Given the description of an element on the screen output the (x, y) to click on. 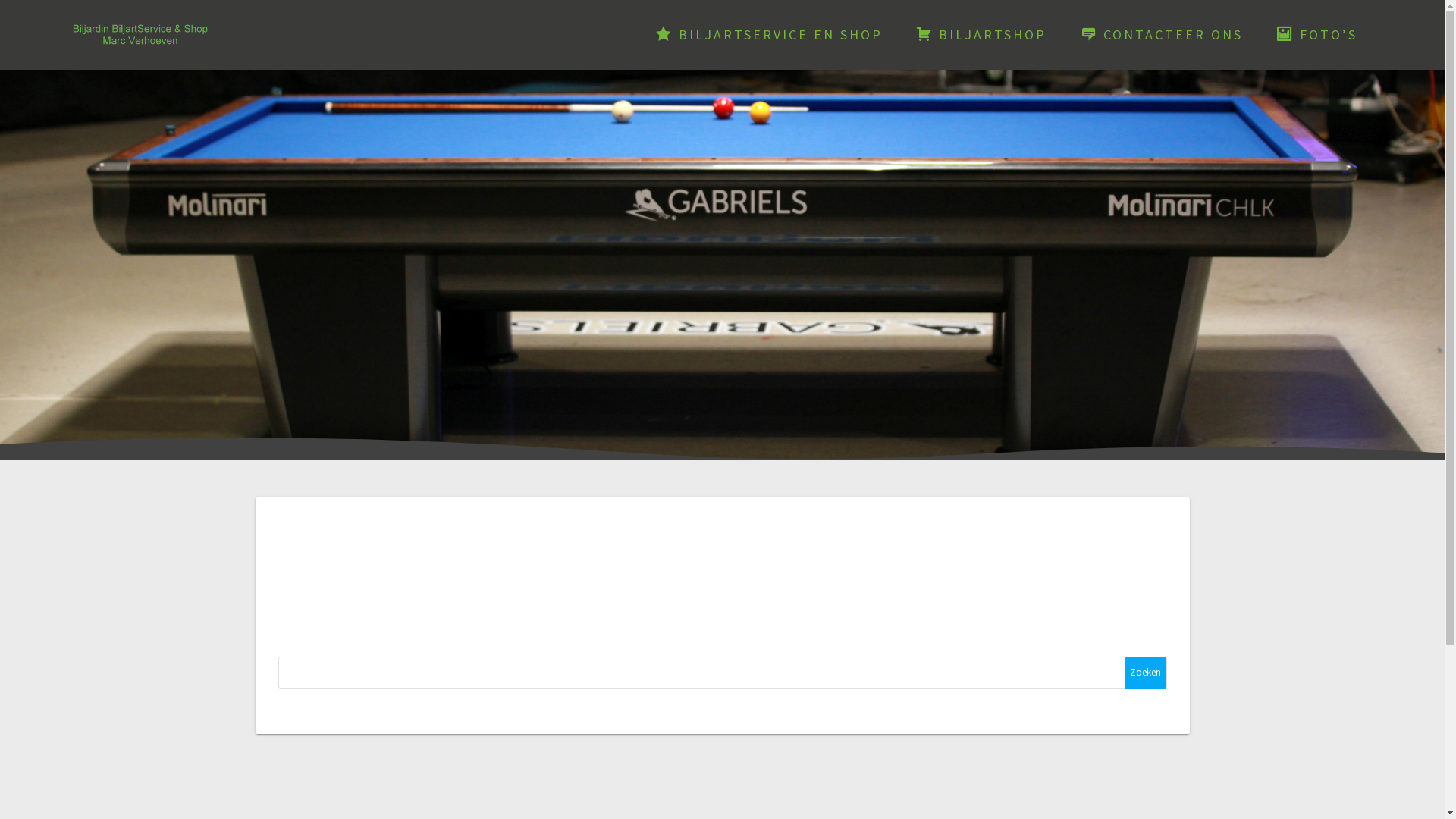
CONTACTEER ONS Element type: text (1161, 34)
BILJARTSERVICE EN SHOP Element type: text (768, 34)
Zoeken Element type: text (1144, 672)
BILJARTSHOP Element type: text (981, 34)
